Given the description of an element on the screen output the (x, y) to click on. 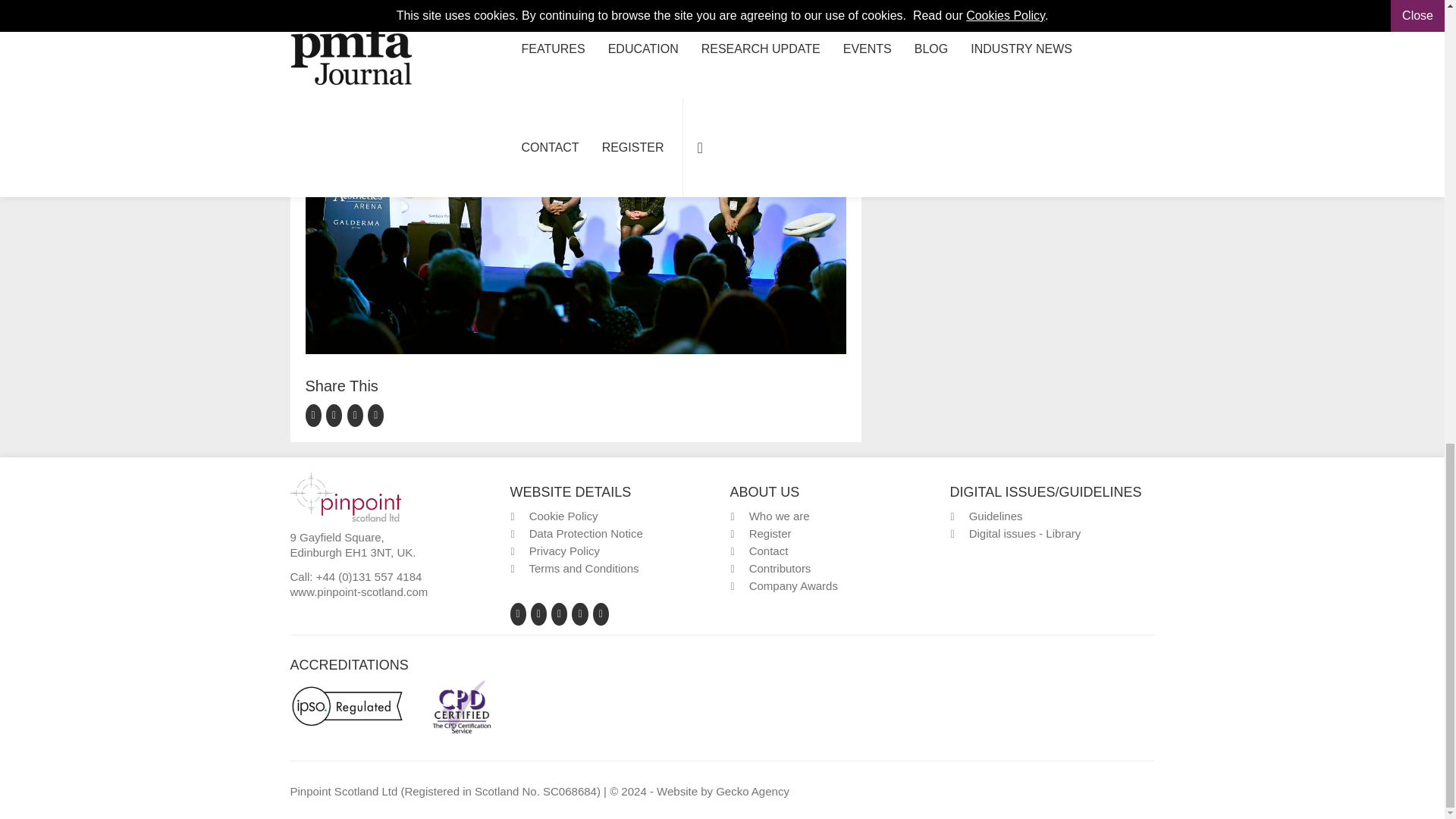
On Twitter (336, 413)
Cookie Policy (563, 515)
www.pinpoint-scotland.com (358, 591)
On Facebook (315, 413)
On Reddit (376, 413)
Pinpoint Scotland (344, 495)
On LinkedIn (357, 413)
Website by Gecko Agency (752, 790)
